Given the description of an element on the screen output the (x, y) to click on. 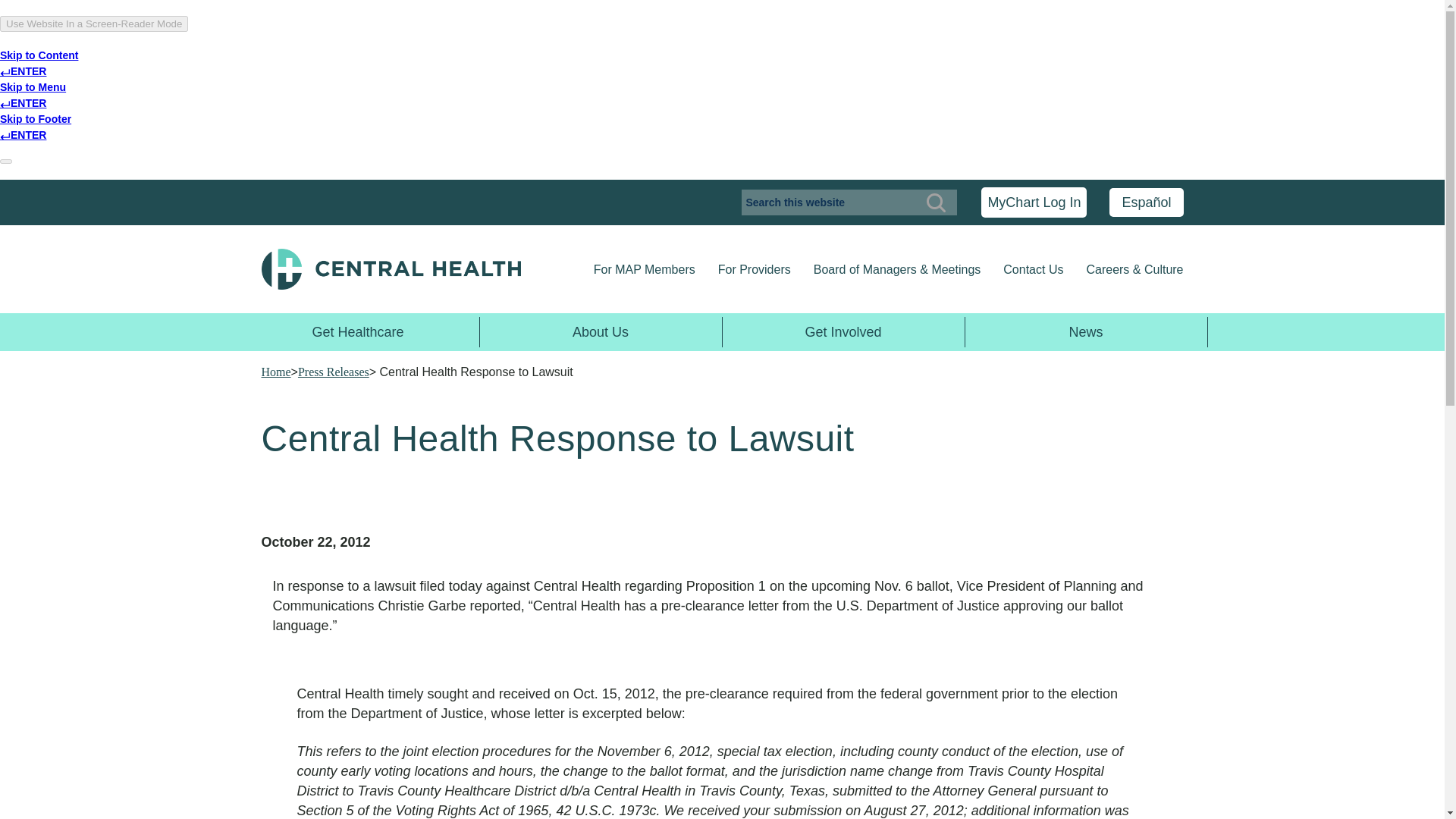
Get Involved (842, 331)
Central Health (409, 268)
MyChart Log In (1033, 202)
Contact Us (1032, 270)
For MAP Members (644, 270)
Get Healthcare (357, 331)
About Us (600, 331)
For Providers (753, 270)
